Given the description of an element on the screen output the (x, y) to click on. 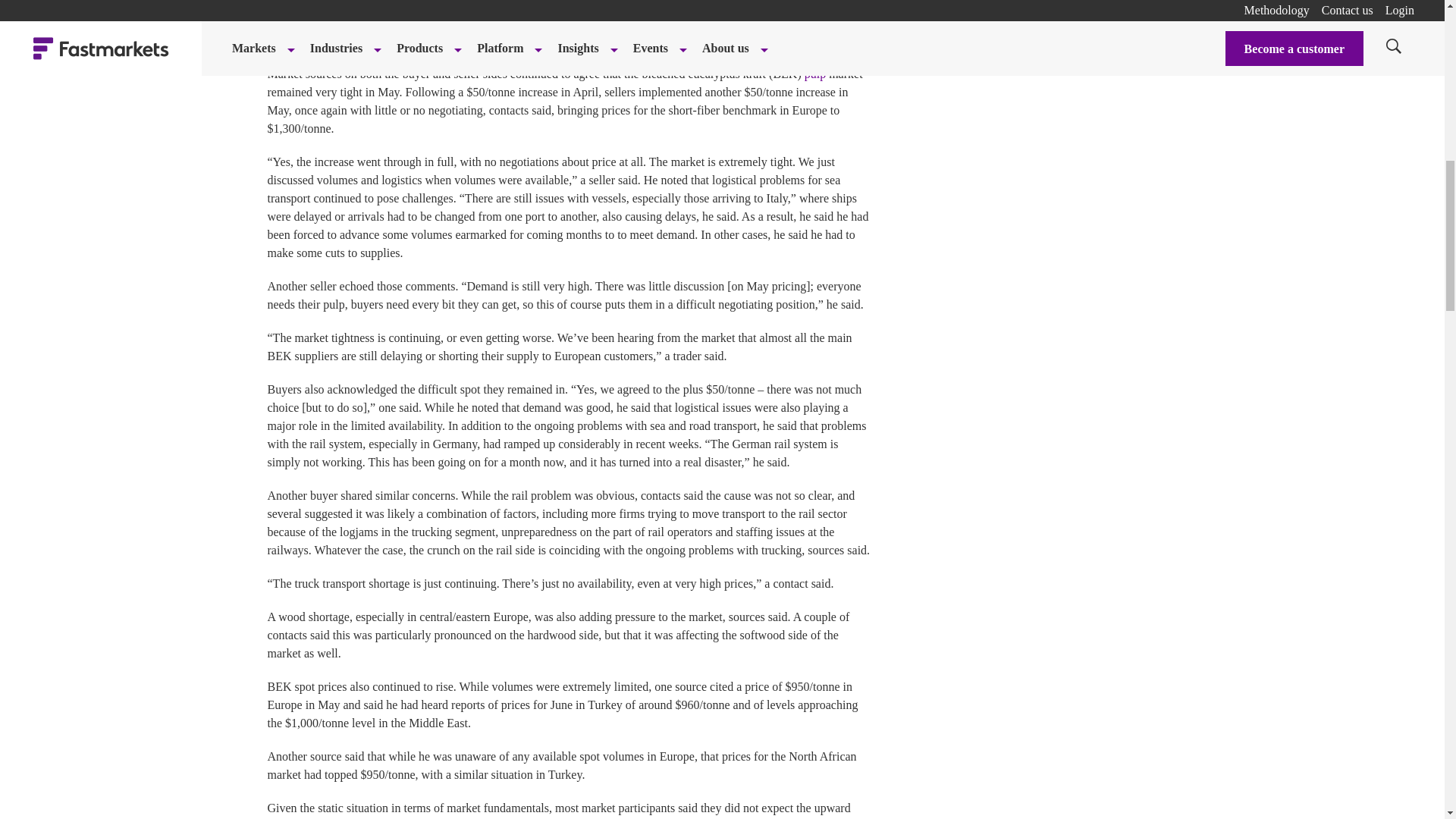
Interactive or visual content (569, 9)
